Given the description of an element on the screen output the (x, y) to click on. 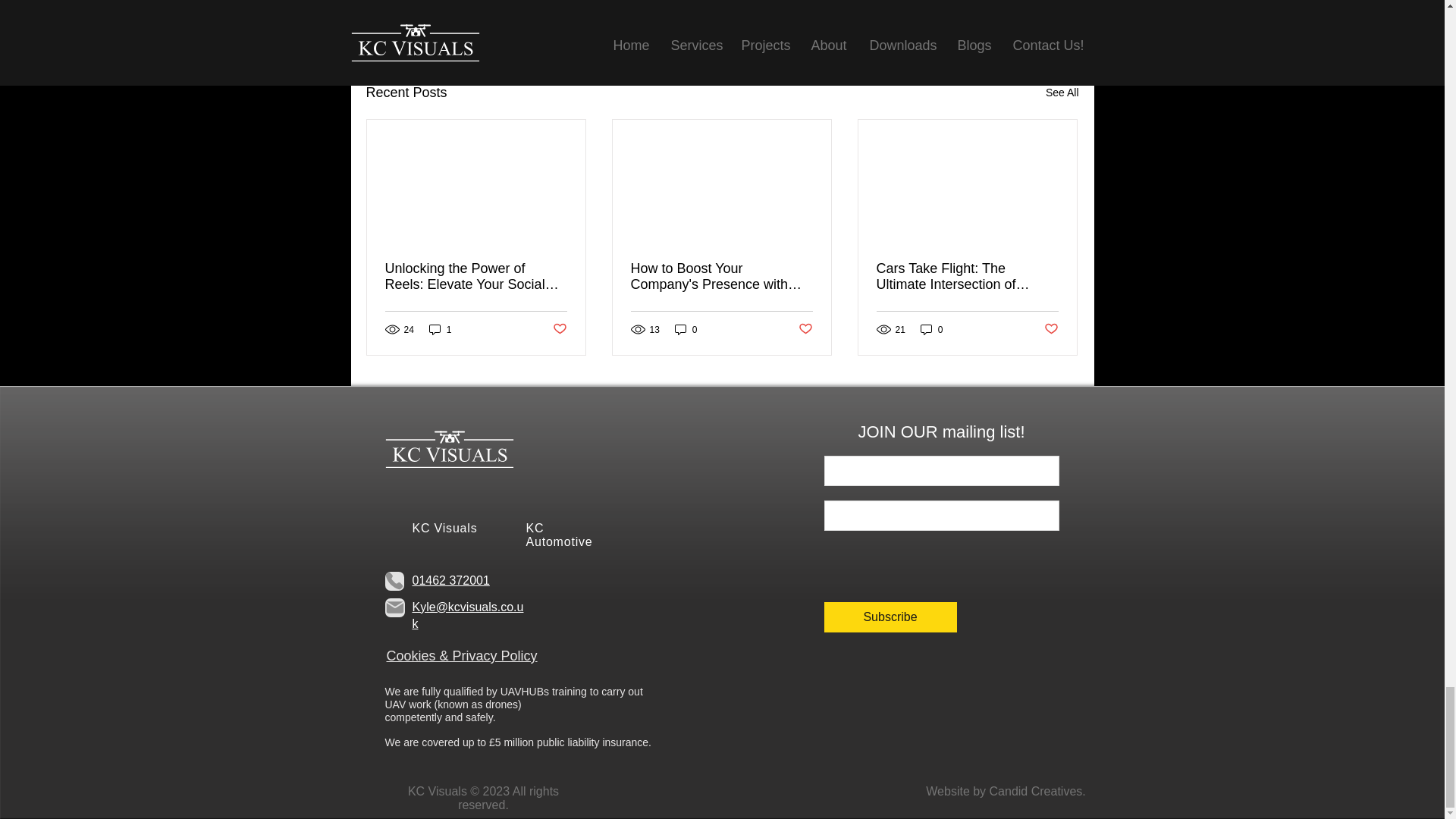
Post not marked as liked (558, 329)
See All (1061, 92)
0 (685, 329)
Post not marked as liked (990, 10)
1 (804, 329)
0 (440, 329)
Post not marked as liked (931, 329)
